Given the description of an element on the screen output the (x, y) to click on. 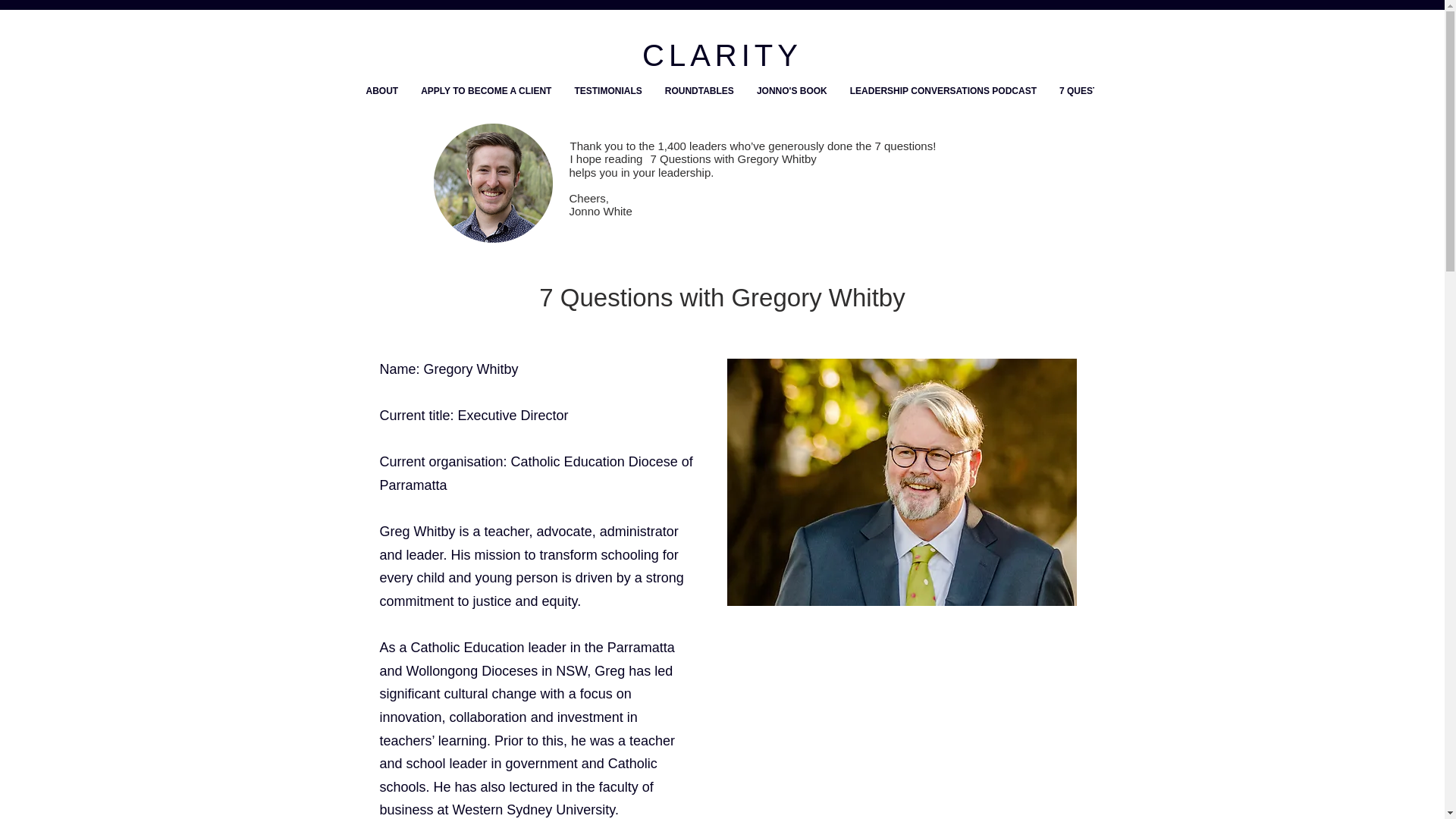
TESTIMONIALS (607, 103)
APPLY TO BECOME A CLIENT (485, 103)
ROUNDTABLES (699, 103)
JONNO'S BOOK (791, 103)
LEADERSHIP CONVERSATIONS PODCAST (943, 103)
ABOUT (382, 103)
7 QUESTIONS SERIES (1107, 103)
CLARITY (722, 55)
